Given the description of an element on the screen output the (x, y) to click on. 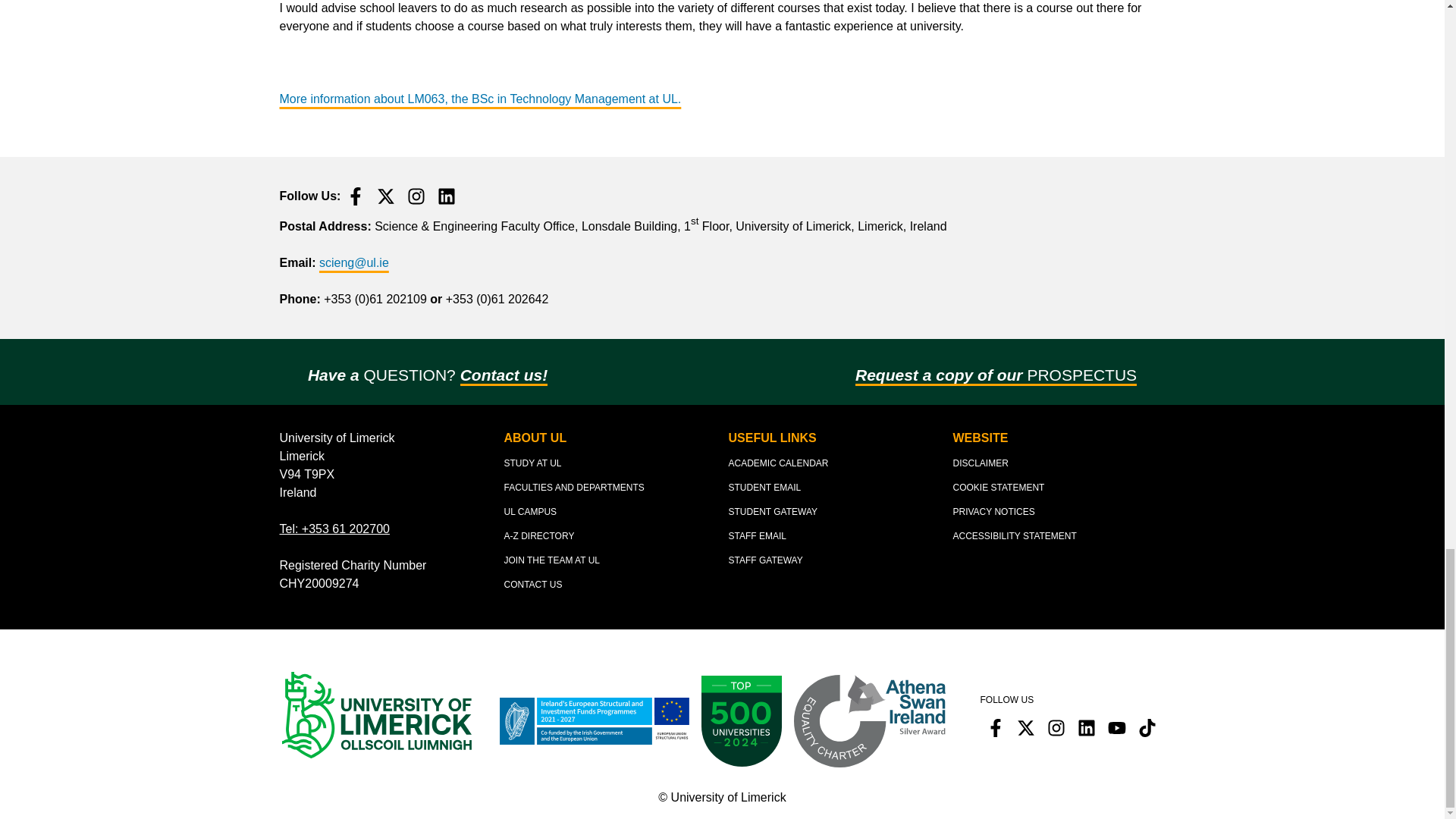
Accessibility statement (1013, 535)
